Given the description of an element on the screen output the (x, y) to click on. 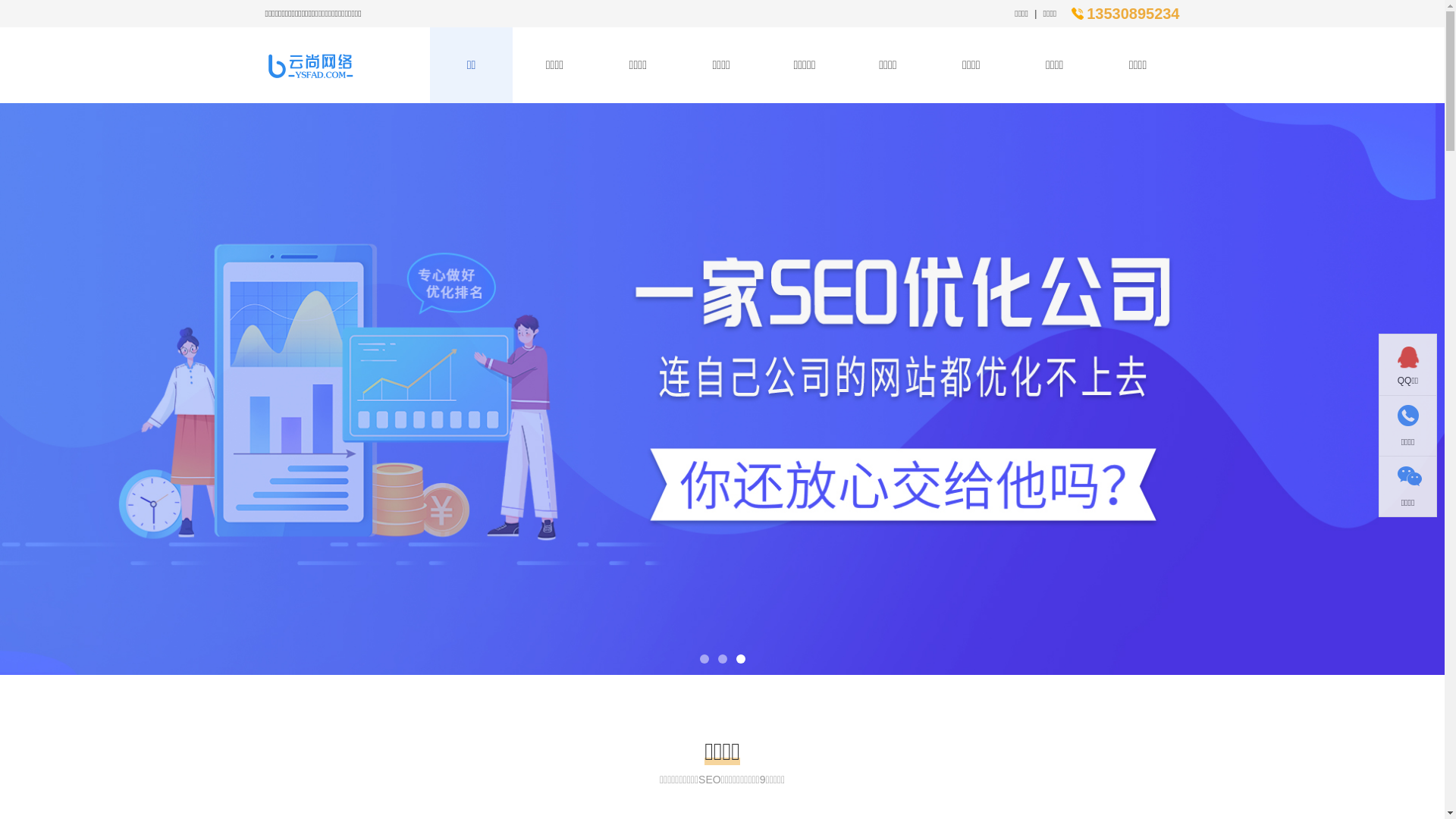
1 Element type: text (703, 658)
2 Element type: text (721, 658)
3 Element type: text (739, 658)
